Given the description of an element on the screen output the (x, y) to click on. 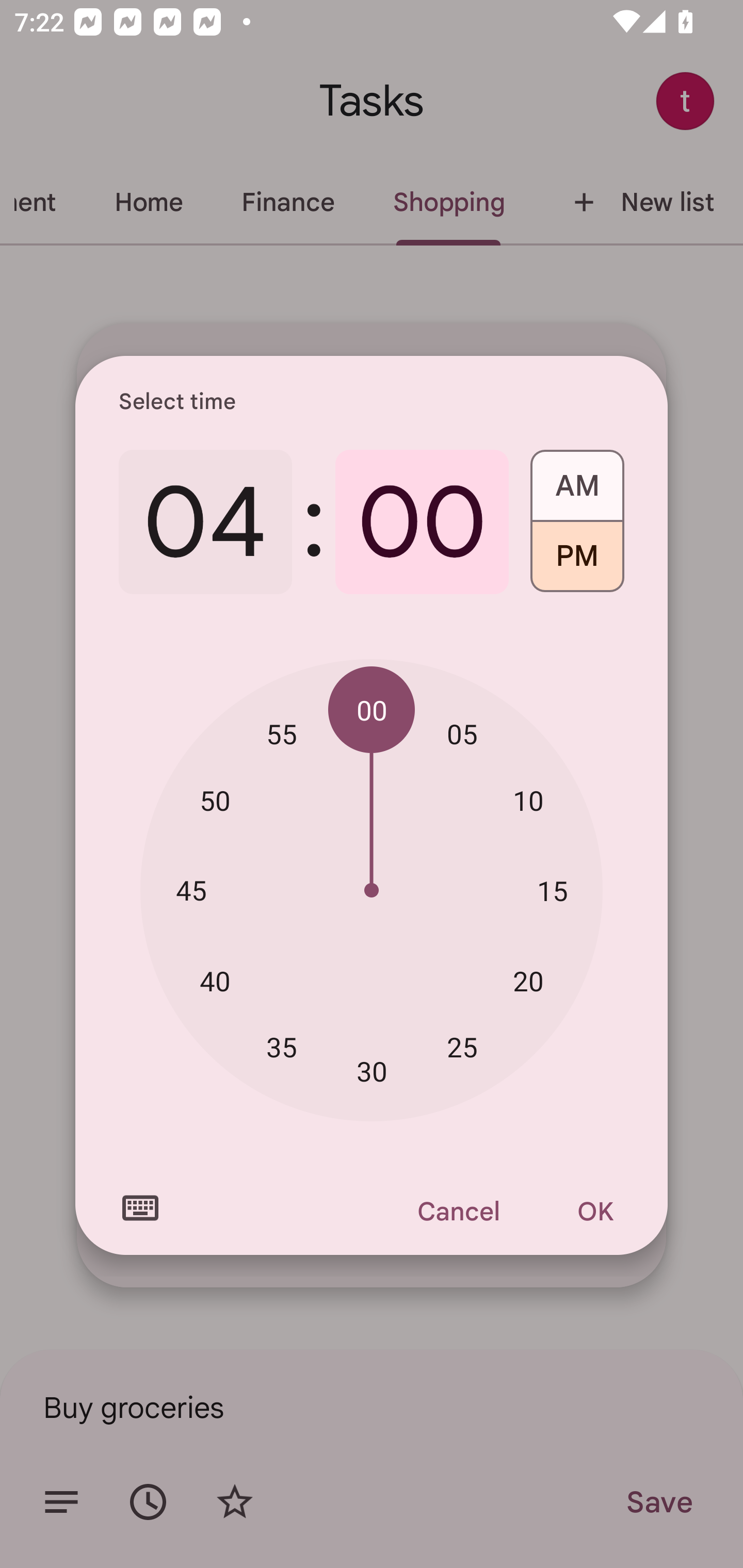
AM (577, 478)
04 4 o'clock (204, 522)
00 0 minutes (421, 522)
PM (577, 563)
00 00 minutes (371, 710)
55 55 minutes (281, 733)
05 05 minutes (462, 733)
50 50 minutes (214, 800)
10 10 minutes (528, 800)
45 45 minutes (190, 889)
15 15 minutes (551, 890)
40 40 minutes (214, 980)
20 20 minutes (528, 980)
35 35 minutes (281, 1046)
25 25 minutes (462, 1046)
30 30 minutes (371, 1071)
Switch to text input mode for the time input. (140, 1208)
Cancel (458, 1211)
OK (595, 1211)
